Given the description of an element on the screen output the (x, y) to click on. 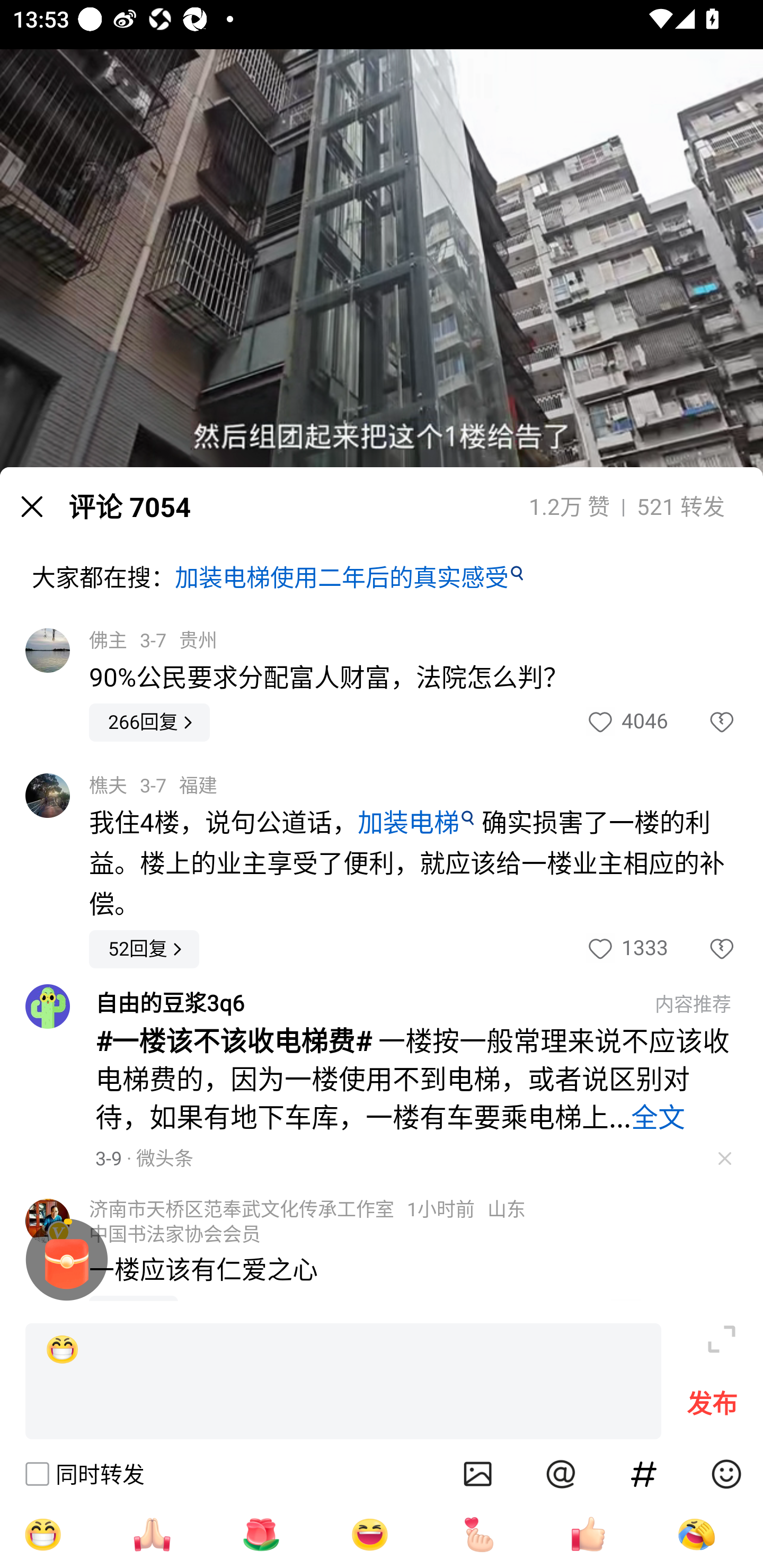
[呲牙] (343, 1381)
全屏编辑 (721, 1338)
发布 (711, 1407)
同时转发 (83, 1473)
相册 (478, 1473)
at (560, 1473)
话题 (643, 1473)
表情 (726, 1473)
[呲牙] (42, 1534)
[祈祷] (152, 1534)
[玫瑰] (261, 1534)
[大笑] (369, 1534)
[比心] (478, 1534)
[赞] (588, 1534)
[捂脸] (696, 1534)
